Given the description of an element on the screen output the (x, y) to click on. 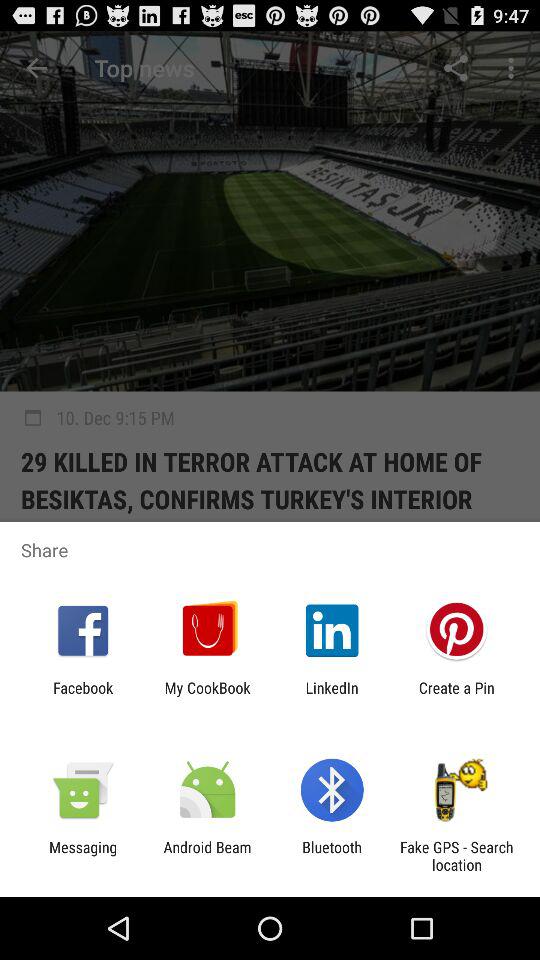
launch item to the left of my cookbook app (83, 696)
